Given the description of an element on the screen output the (x, y) to click on. 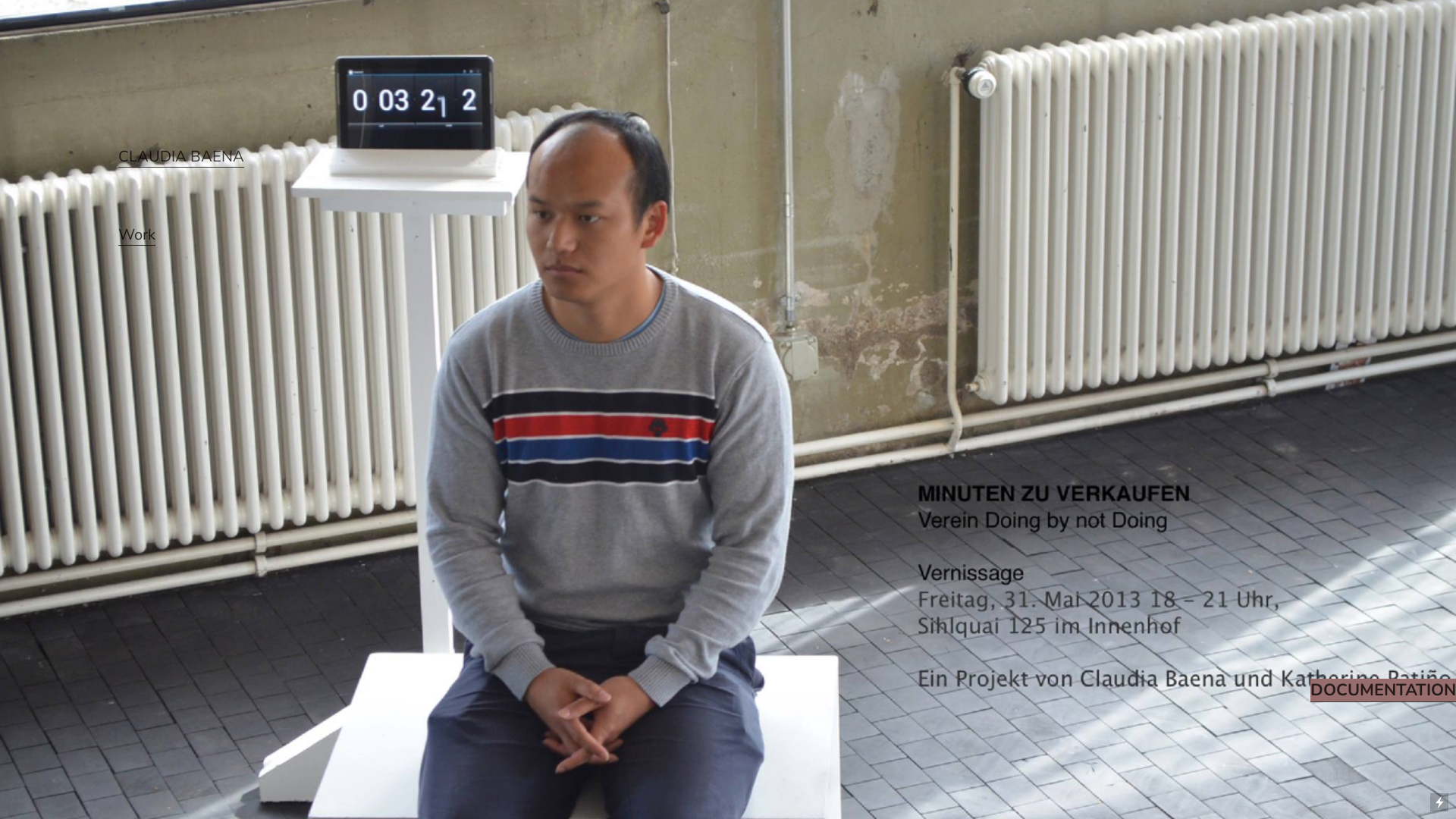
Work Element type: text (136, 234)
CLAUDIA BAENA Element type: text (181, 156)
